Given the description of an element on the screen output the (x, y) to click on. 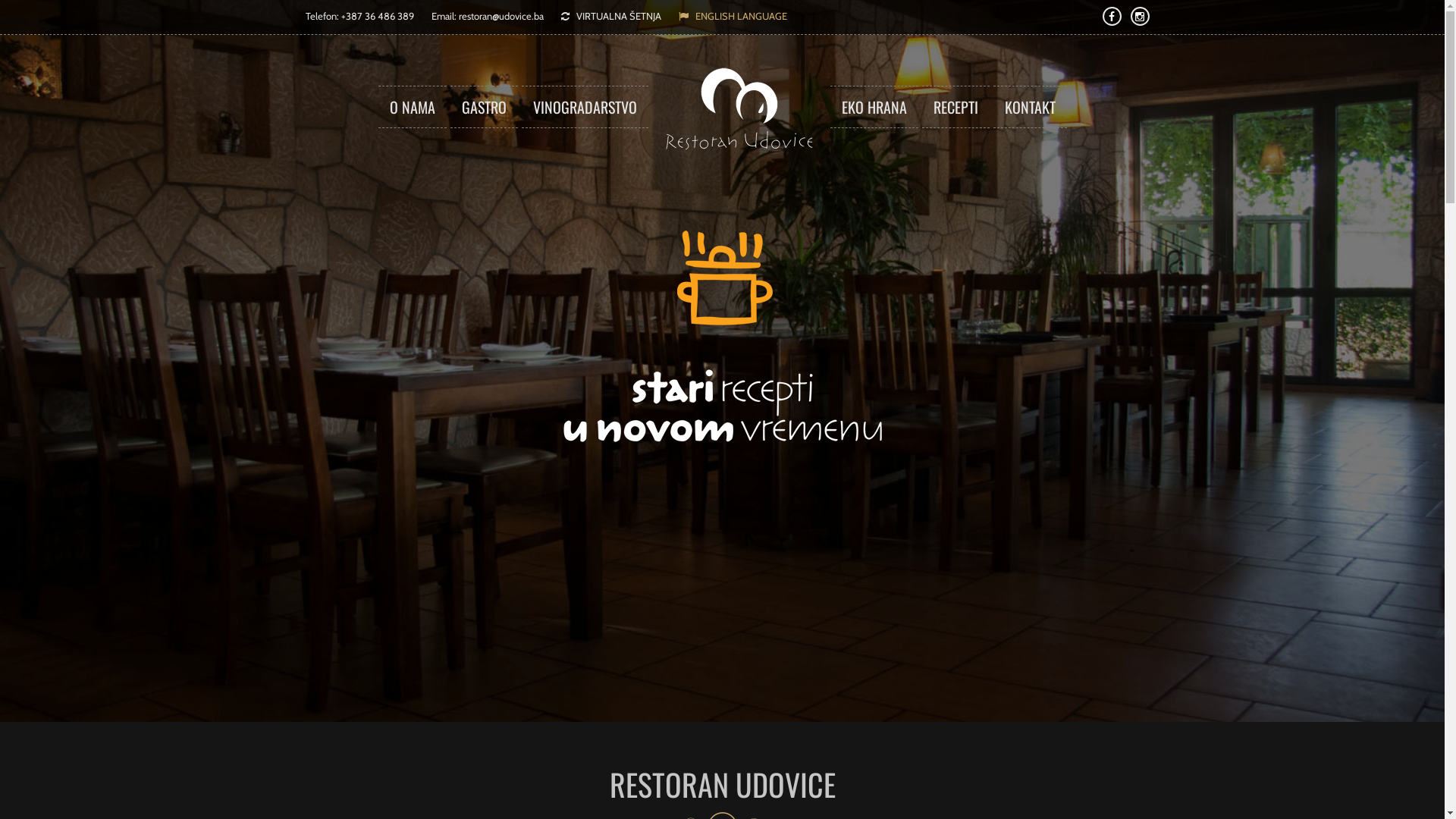
restoran@udovice.ba Element type: text (500, 15)
O NAMA Element type: text (411, 106)
KONTAKT Element type: text (1029, 106)
EKO HRANA Element type: text (873, 106)
RECEPTI Element type: text (955, 106)
VINOGRADARSTVO Element type: text (584, 106)
GASTRO Element type: text (483, 106)
  ENGLISH LANGUAGE Element type: text (731, 15)
